Given the description of an element on the screen output the (x, y) to click on. 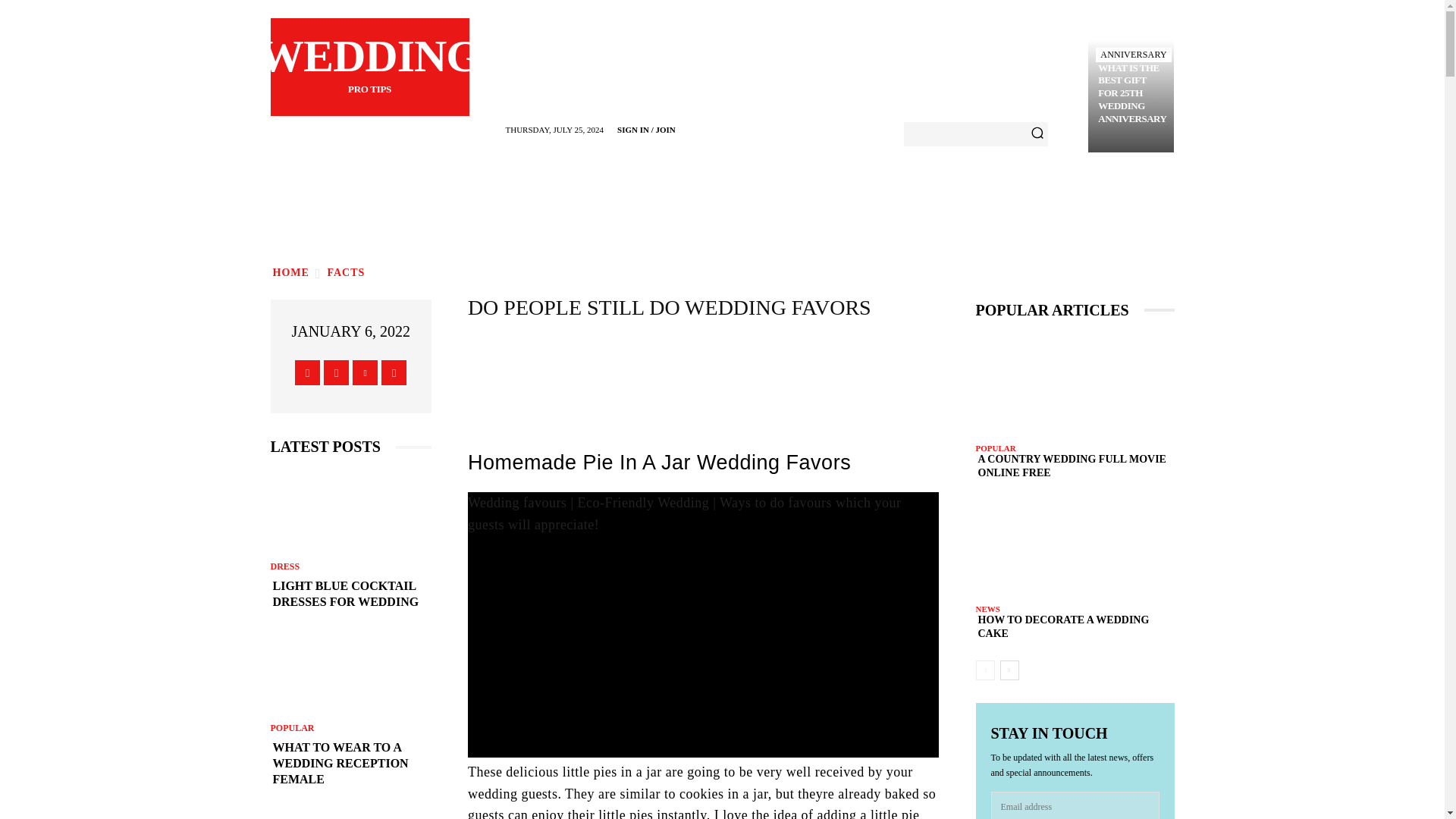
Light Blue Cocktail Dresses For Wedding (349, 594)
All-inclusive Small Wedding Packages In Colorado (349, 814)
What Is The Best Gift For 25th Wedding Anniversary (368, 66)
What To Wear To A Wedding Reception Female (1132, 94)
Light Blue Cocktail Dresses For Wedding (349, 763)
HOME (349, 511)
FACTS (290, 273)
Facebook (345, 273)
ANNIVERSARY (307, 371)
View all posts in Facts (1134, 54)
What To Wear To A Wedding Reception Female (345, 273)
Youtube (349, 673)
WHAT IS THE BEST GIFT FOR 25TH WEDDING ANNIVERSARY (393, 371)
Twitter (1132, 94)
